Given the description of an element on the screen output the (x, y) to click on. 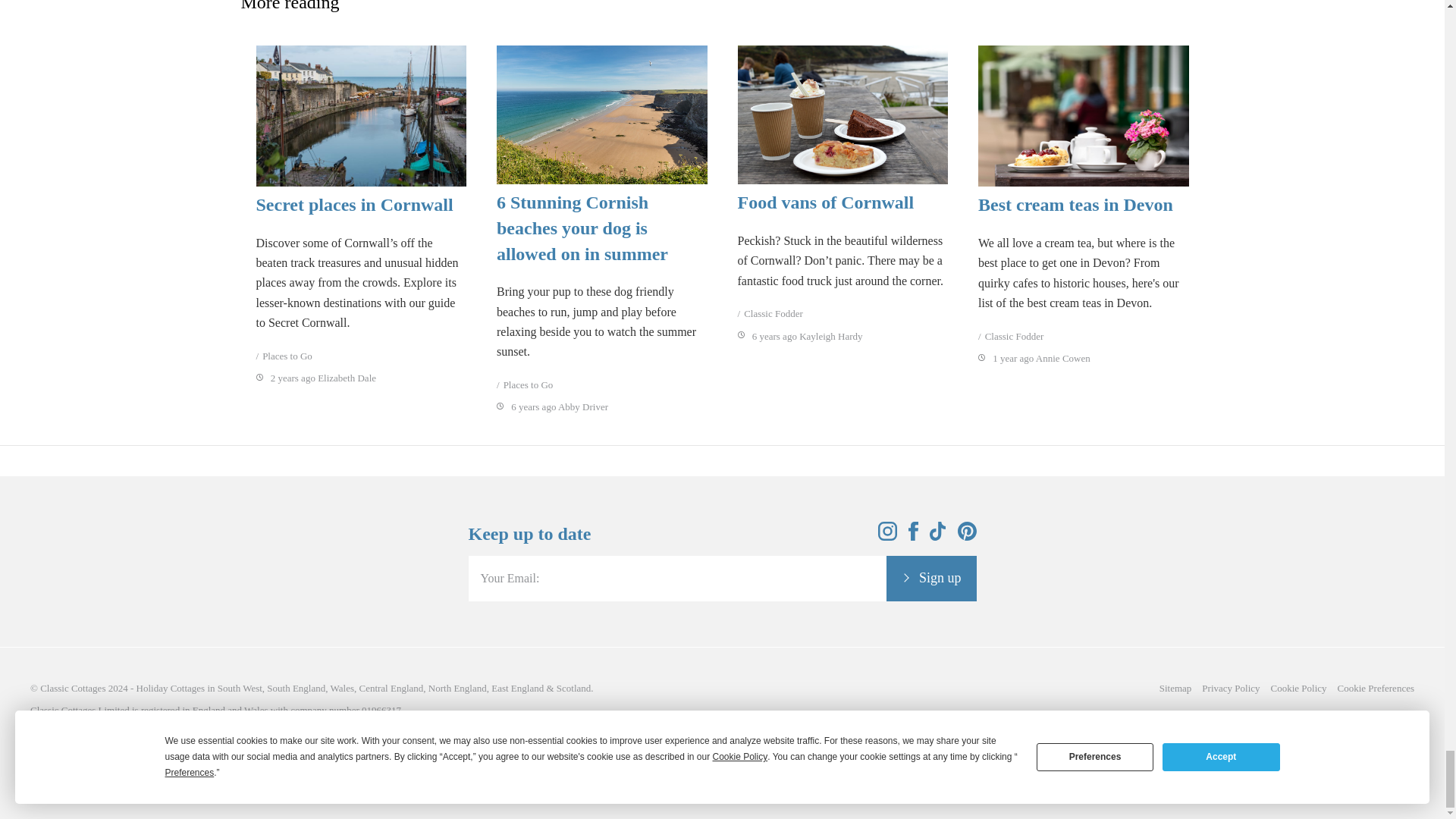
Follow Classic Cottages Instagram (886, 535)
